Given the description of an element on the screen output the (x, y) to click on. 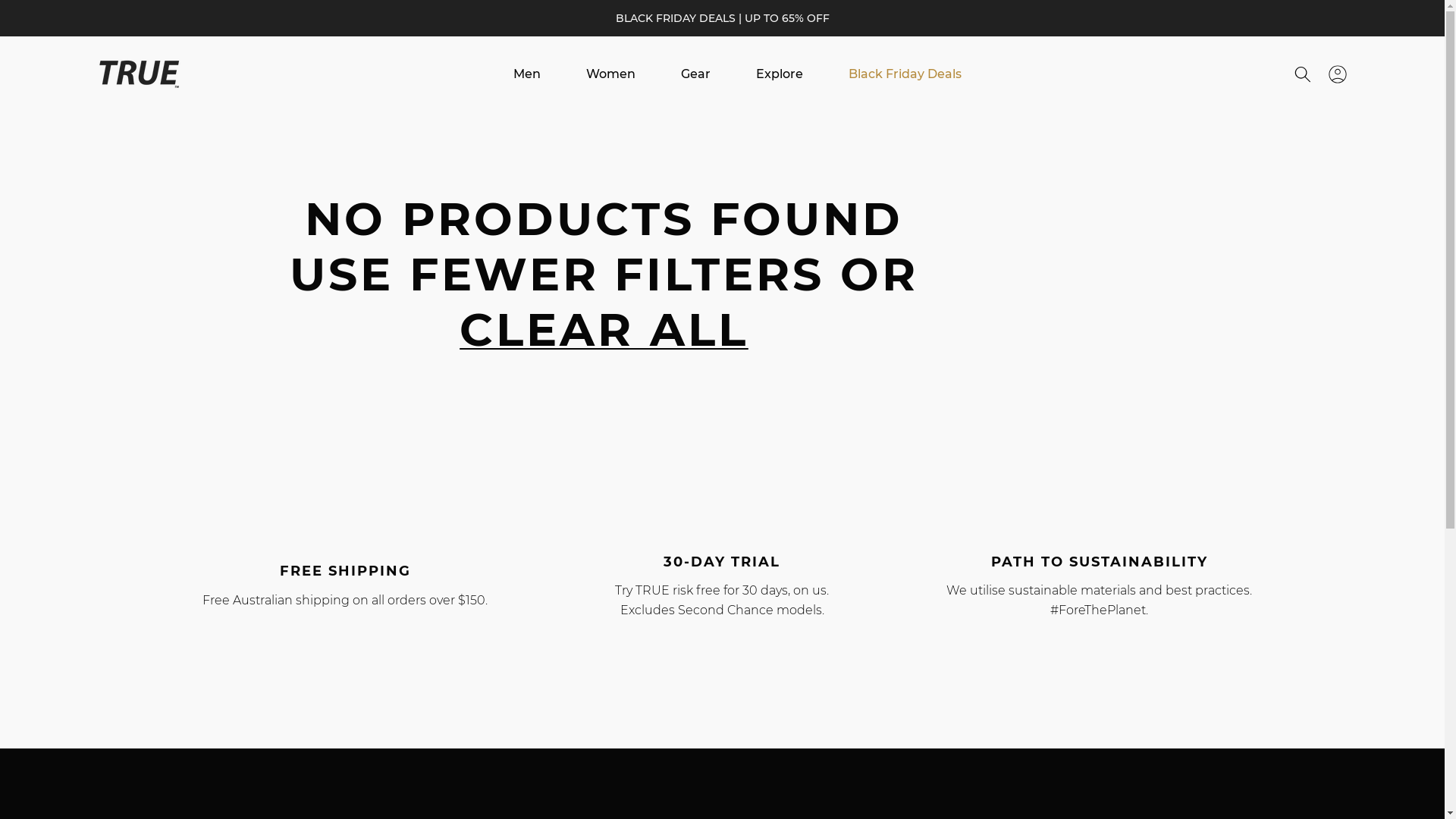
CLEAR ALL Element type: text (603, 329)
Women Element type: text (610, 74)
Black Friday Deals Element type: text (904, 74)
BLACK FRIDAY DEALS | UP TO 65% OFF Element type: text (722, 18)
Sign In Element type: text (1337, 74)
